Given the description of an element on the screen output the (x, y) to click on. 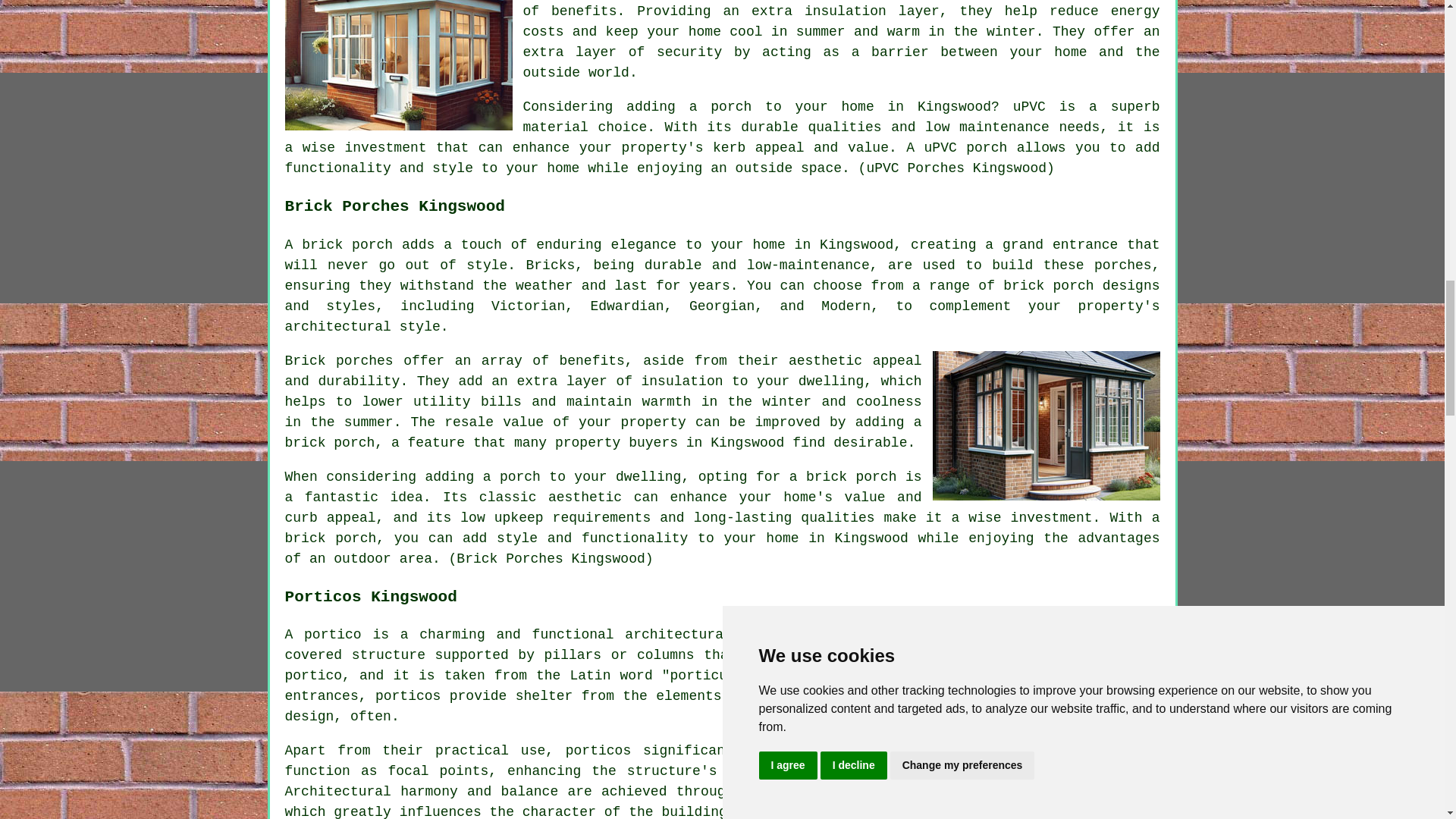
a porch (720, 106)
Brick Porches Kingswood (1046, 424)
brick porch (330, 442)
porches (1122, 264)
uPVC Porches Kingswood (398, 65)
